Given the description of an element on the screen output the (x, y) to click on. 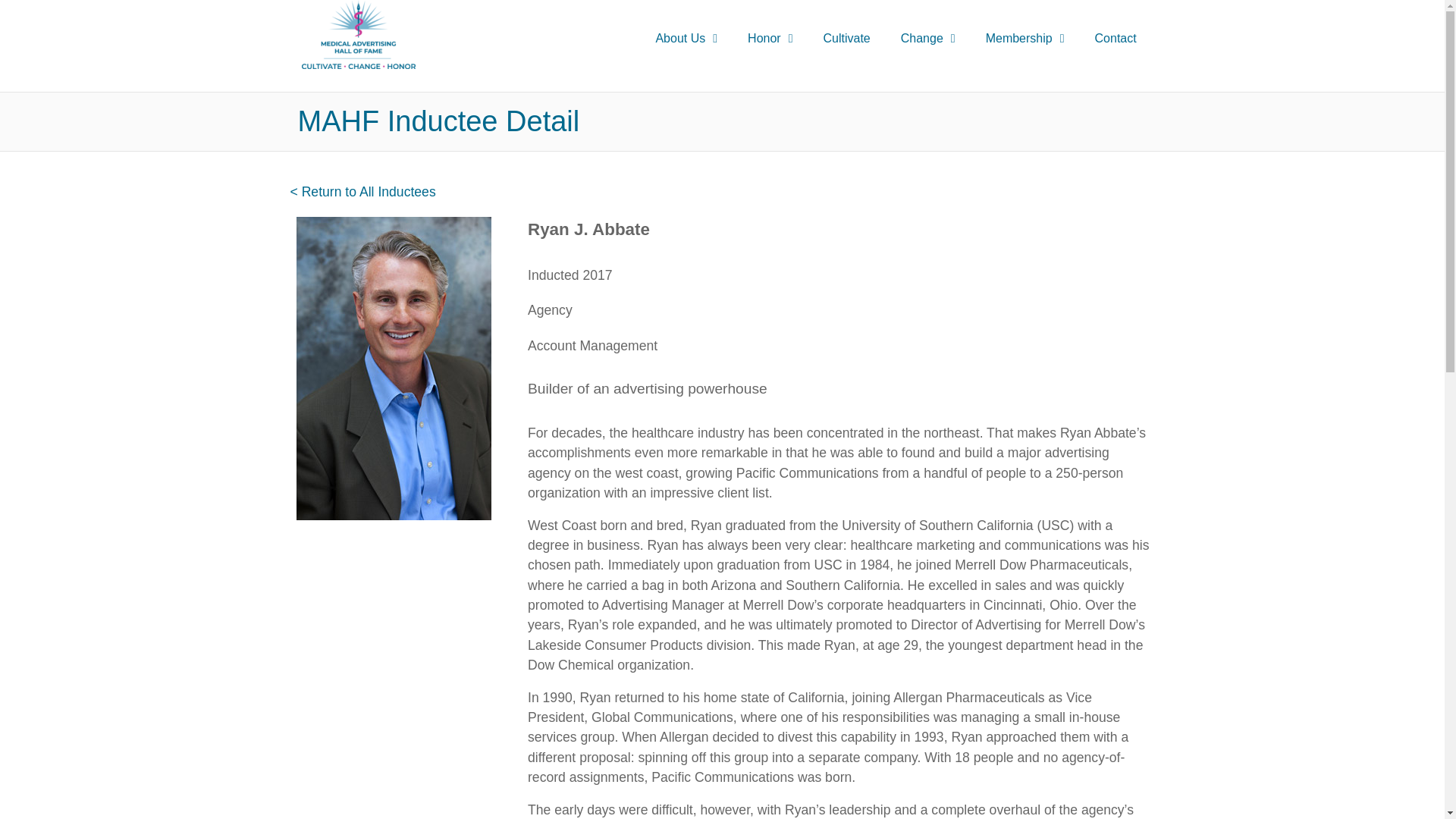
Change (928, 38)
About Us (686, 38)
Contact (1115, 38)
Honor (770, 38)
Membership (1025, 38)
Cultivate (846, 38)
